Given the description of an element on the screen output the (x, y) to click on. 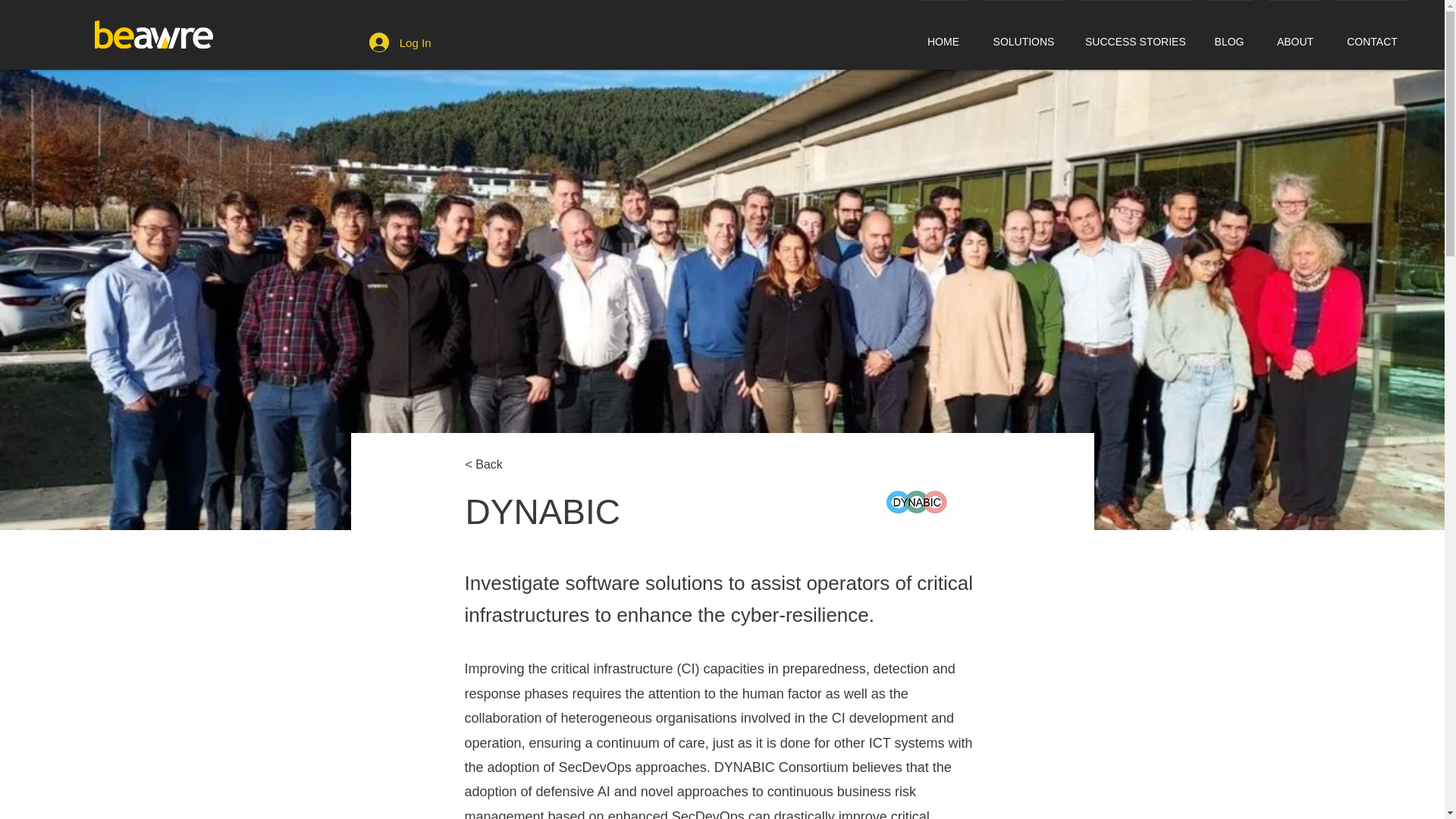
CONTACT (1371, 34)
SUCCESS STORIES (1134, 34)
SOLUTIONS (1023, 34)
dynabic2.jpg (915, 503)
Home (153, 34)
HOME (943, 34)
Log In (400, 41)
BLOG (1229, 34)
ABOUT (1295, 34)
